Given the description of an element on the screen output the (x, y) to click on. 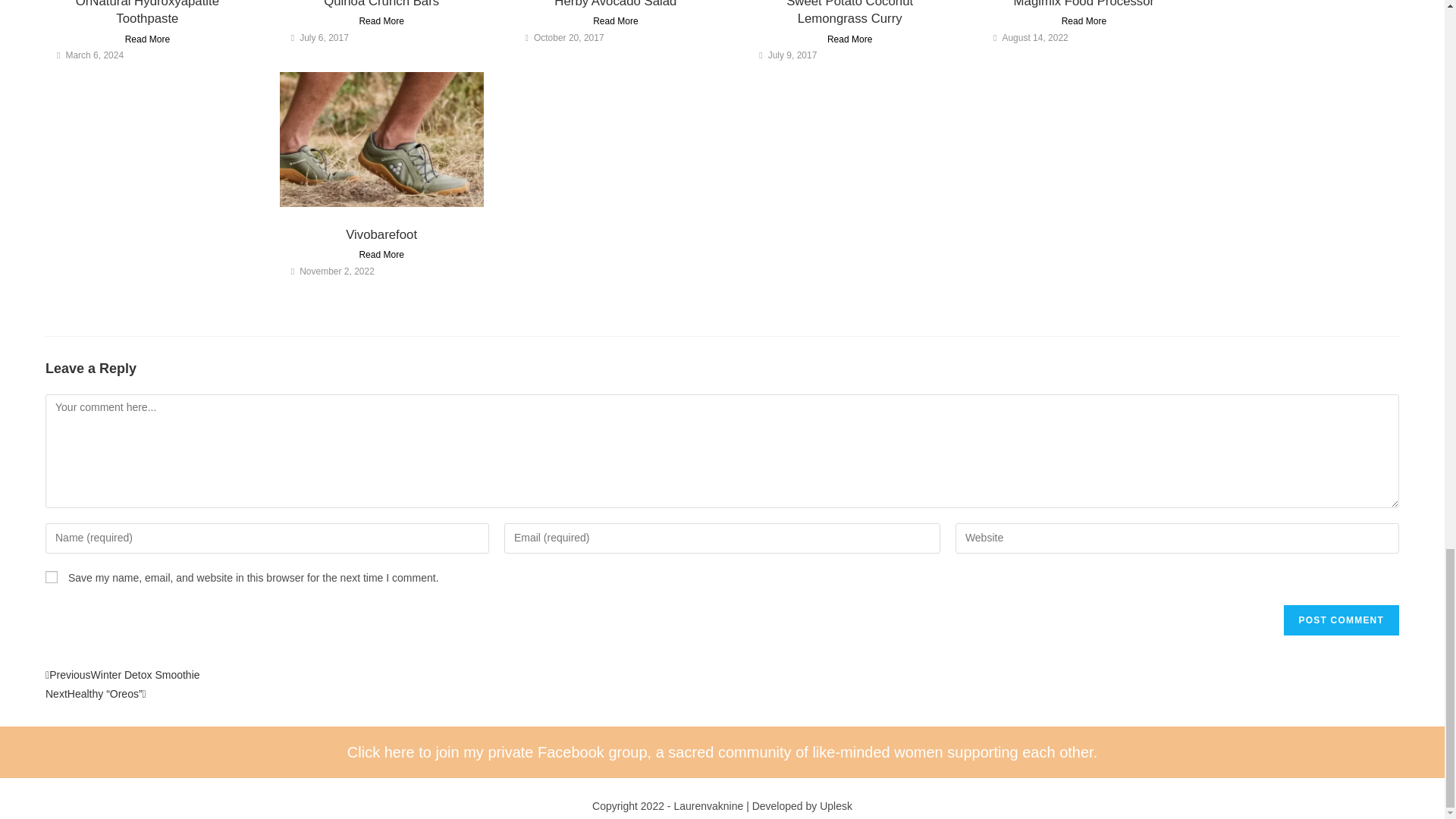
Post Comment (1341, 620)
Herby Avocado Salad (615, 4)
Sweet Potato Coconut Lemongrass Curry (849, 13)
yes (51, 576)
Vivobarefoot (381, 234)
OrNatural Hydroxyapatite Toothpaste (147, 13)
Magimix Food Processor (1083, 4)
Quinoa Crunch Bars (381, 4)
